Given the description of an element on the screen output the (x, y) to click on. 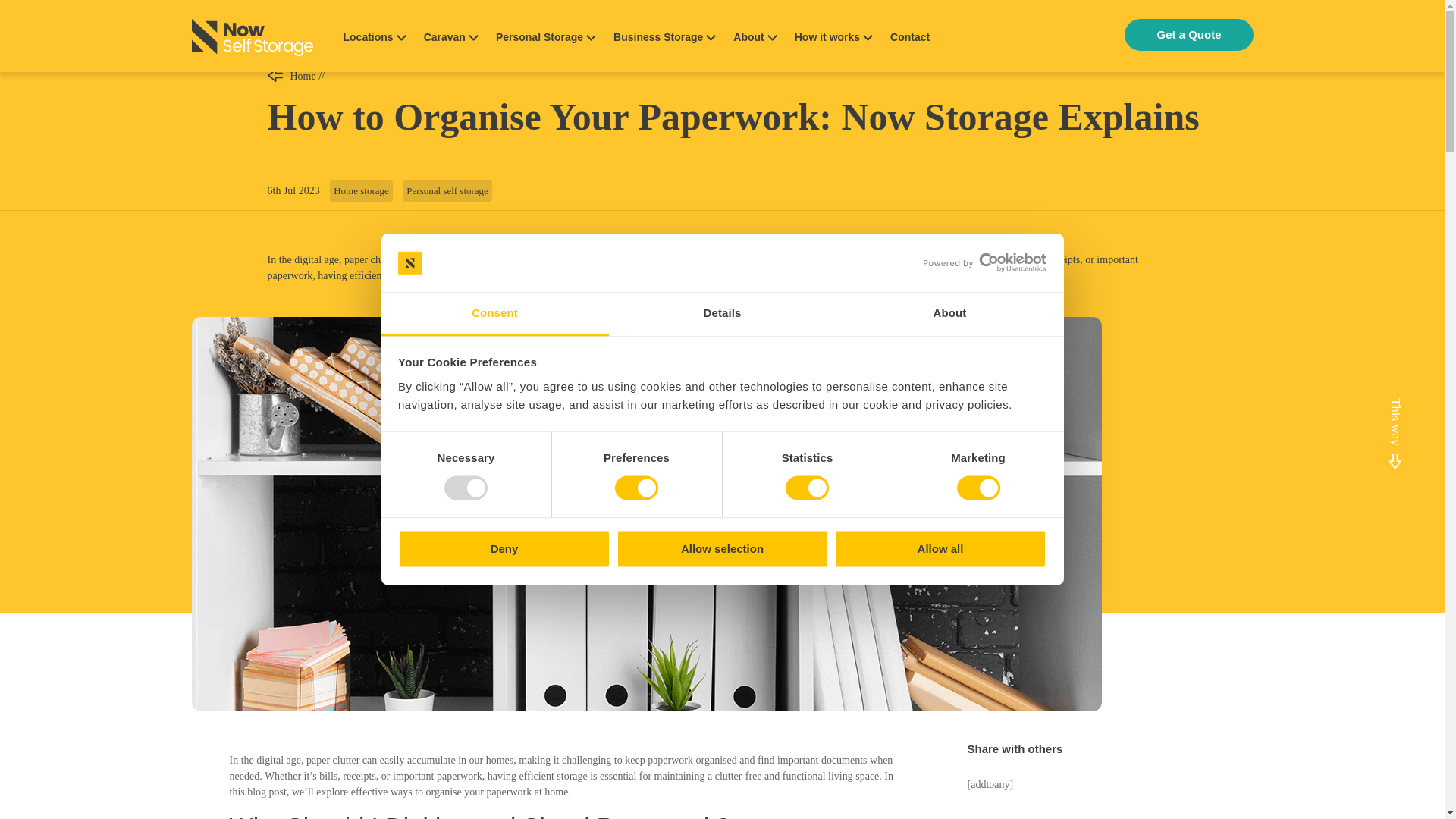
Consent (494, 313)
About (948, 313)
Now Storage (251, 39)
Details (721, 313)
Deny (503, 548)
Allow selection (721, 548)
